Given the description of an element on the screen output the (x, y) to click on. 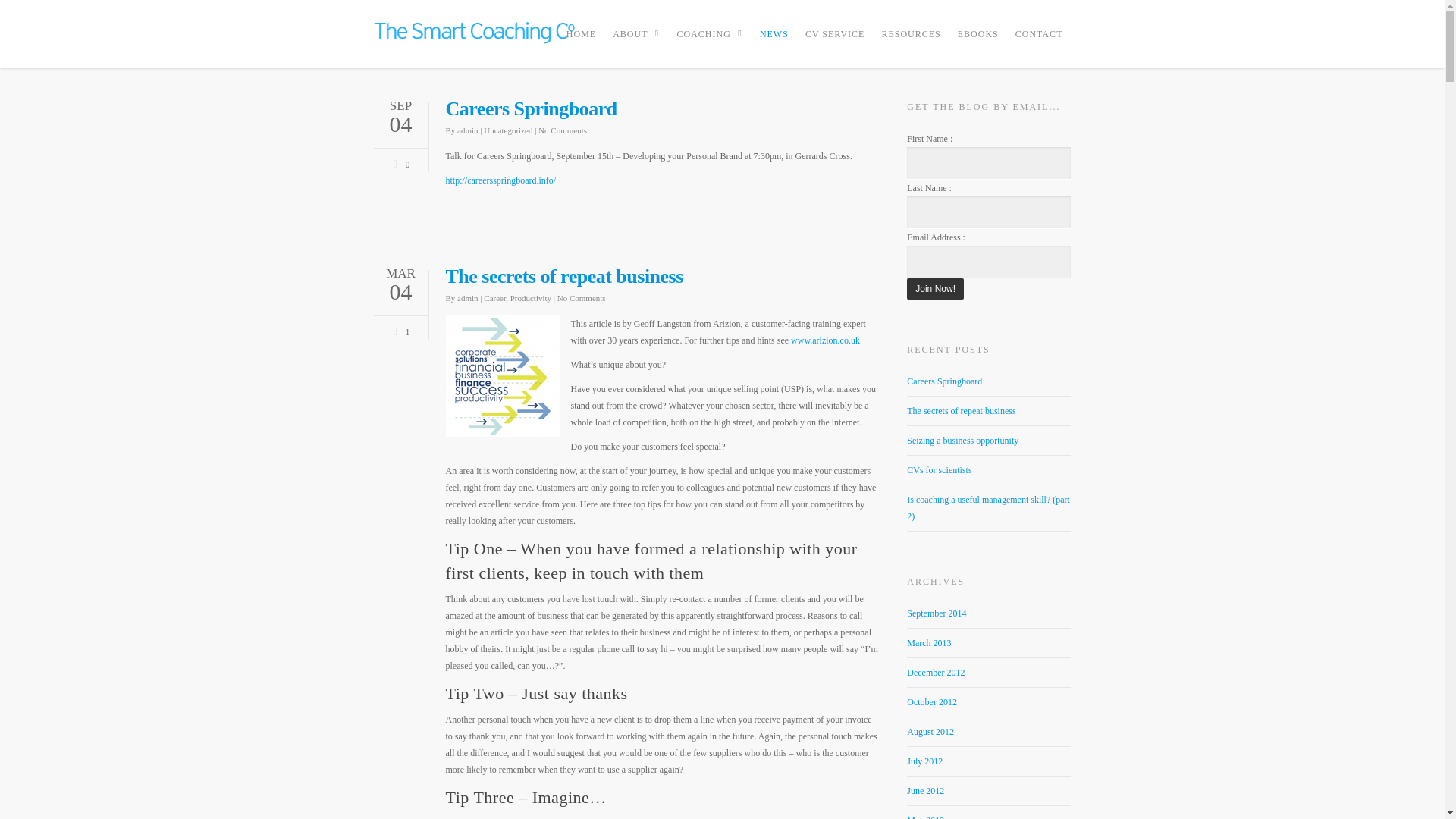
CV SERVICE (834, 44)
No Comments (562, 130)
ABOUT (635, 44)
EBOOKS (978, 44)
NEWS (774, 44)
0 (399, 162)
Posts by admin (468, 297)
Careers Springboard (531, 108)
CONTACT (1038, 44)
The secrets of repeat business (563, 276)
RESOURCES (910, 44)
Posts by admin (468, 130)
View all posts in Uncategorized (507, 130)
productivity-3-edit (502, 375)
Love this (399, 329)
